Given the description of an element on the screen output the (x, y) to click on. 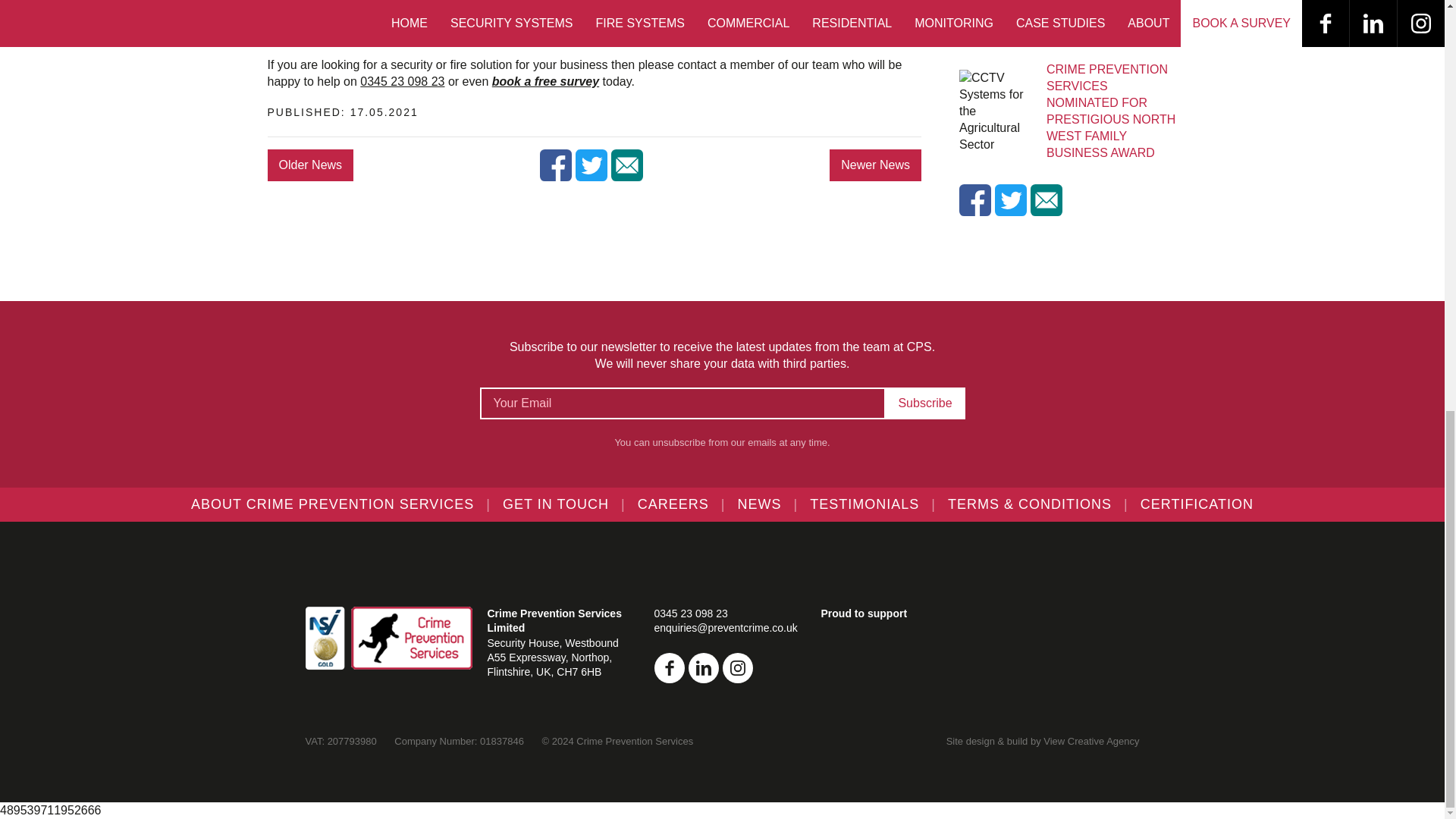
Older News (309, 164)
Fire Extinguishers (351, 31)
Fire Alarm (328, 14)
Newer News (875, 164)
Subscribe (925, 403)
0345 23 098 23 (401, 81)
book a free survey (545, 81)
Digital Marketing, brand design and web development (1090, 740)
